Given the description of an element on the screen output the (x, y) to click on. 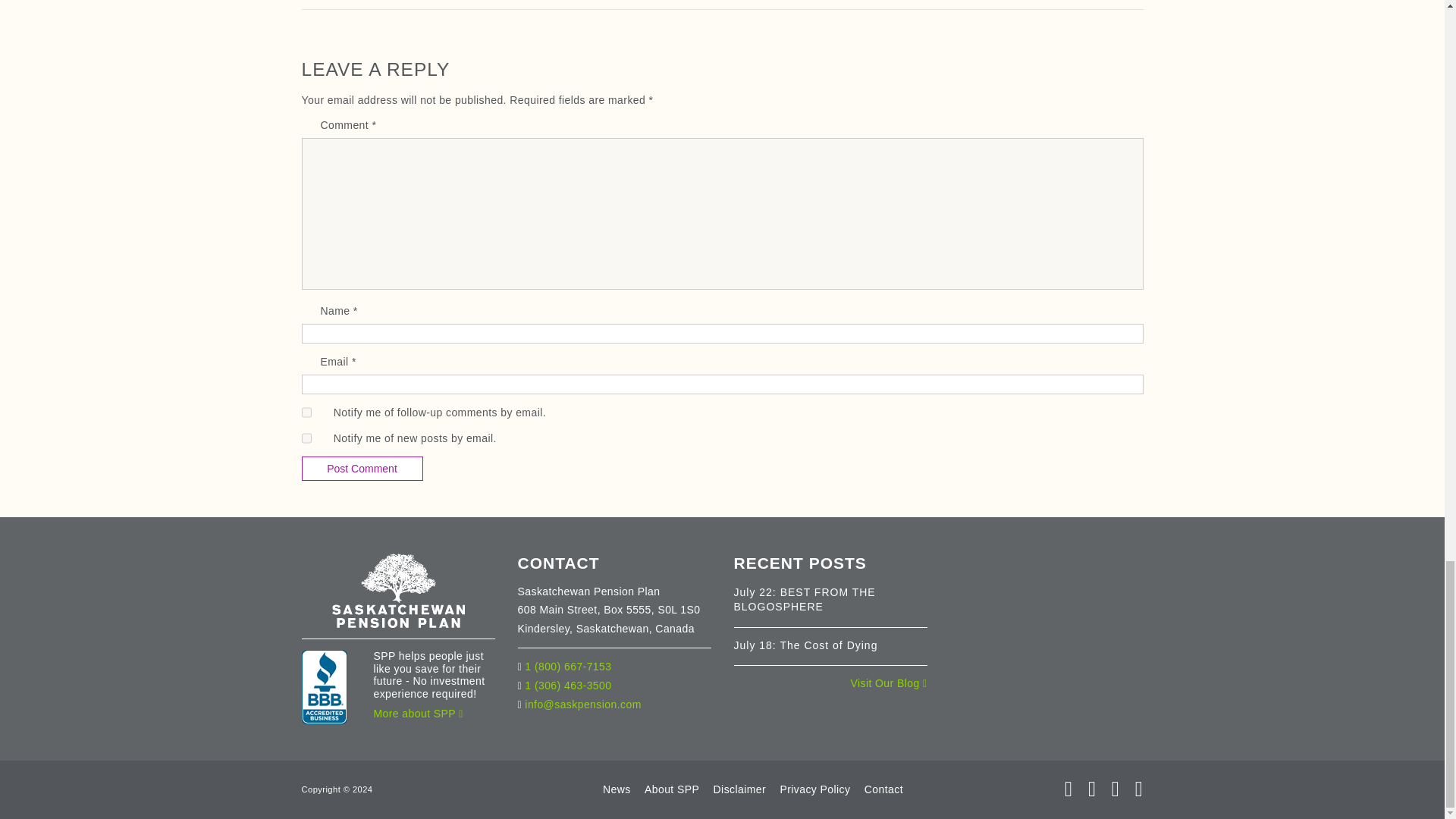
Post Comment (362, 468)
